Given the description of an element on the screen output the (x, y) to click on. 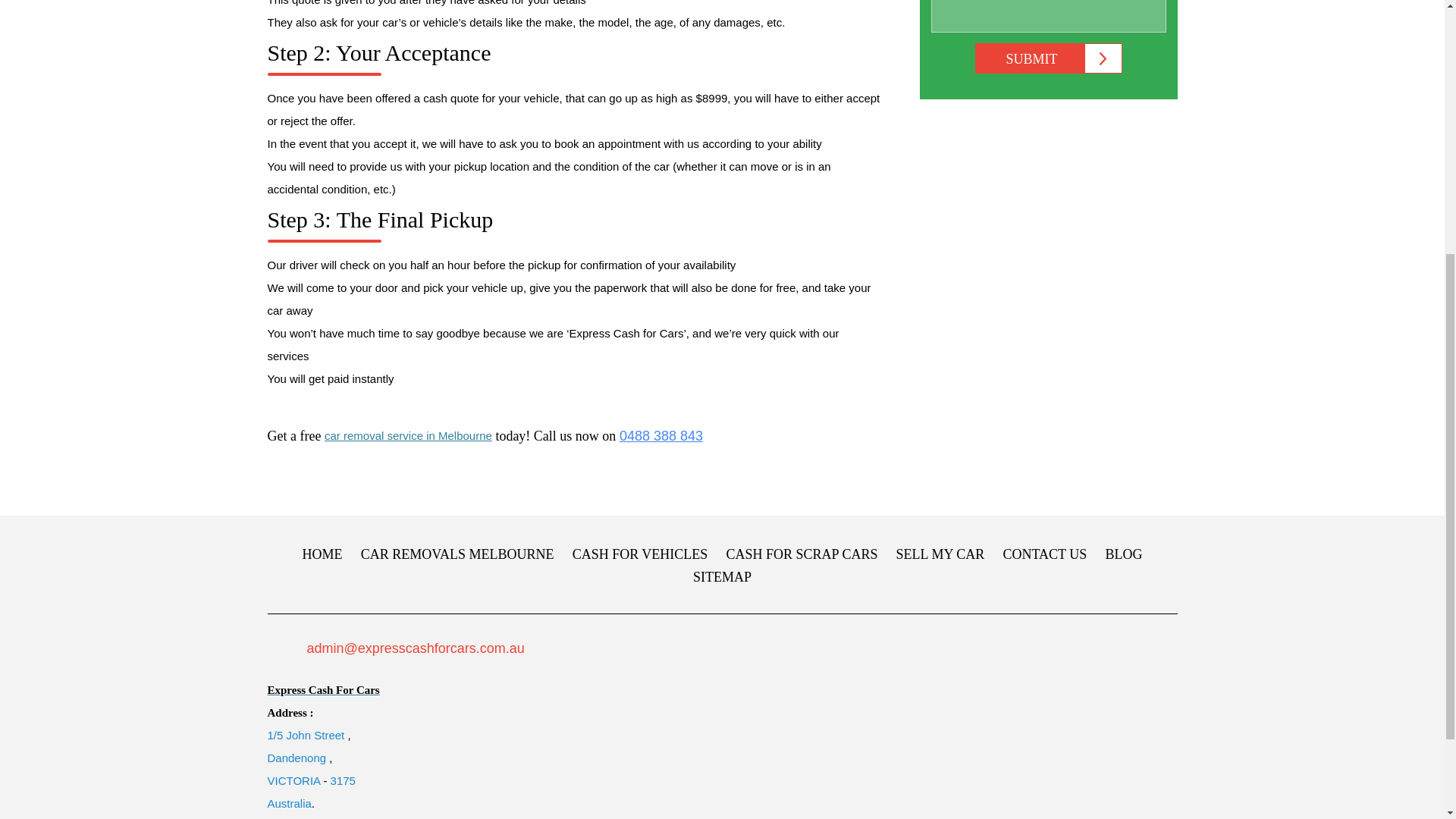
Home (322, 554)
HOME (322, 554)
CASH FOR SCRAP CARS (801, 554)
car removal service in Melbourne (408, 435)
0488 388 843 (661, 435)
SUBMIT (1048, 58)
CONTACT US (1044, 554)
SELL MY CAR (940, 554)
CAR REMOVALS MELBOURNE (457, 554)
SUBMIT (1048, 58)
SITEMAP (722, 576)
0488 388 843 (661, 435)
BLOG (1123, 554)
CASH FOR VEHICLES (639, 554)
